Given the description of an element on the screen output the (x, y) to click on. 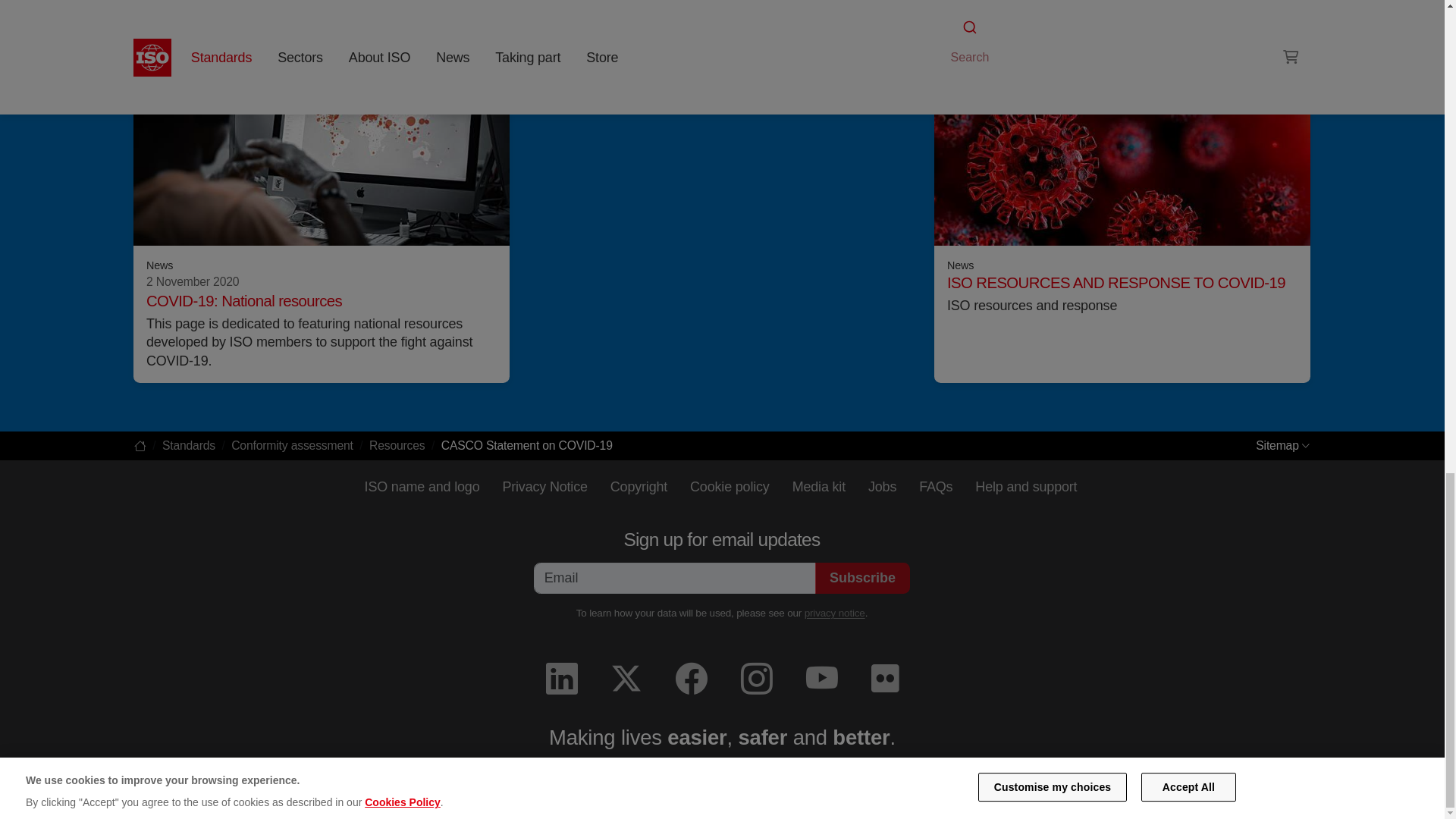
COVID-19: National resources (244, 300)
COVID-19: National resources (244, 300)
COVID-19: National resources (321, 151)
